Given the description of an element on the screen output the (x, y) to click on. 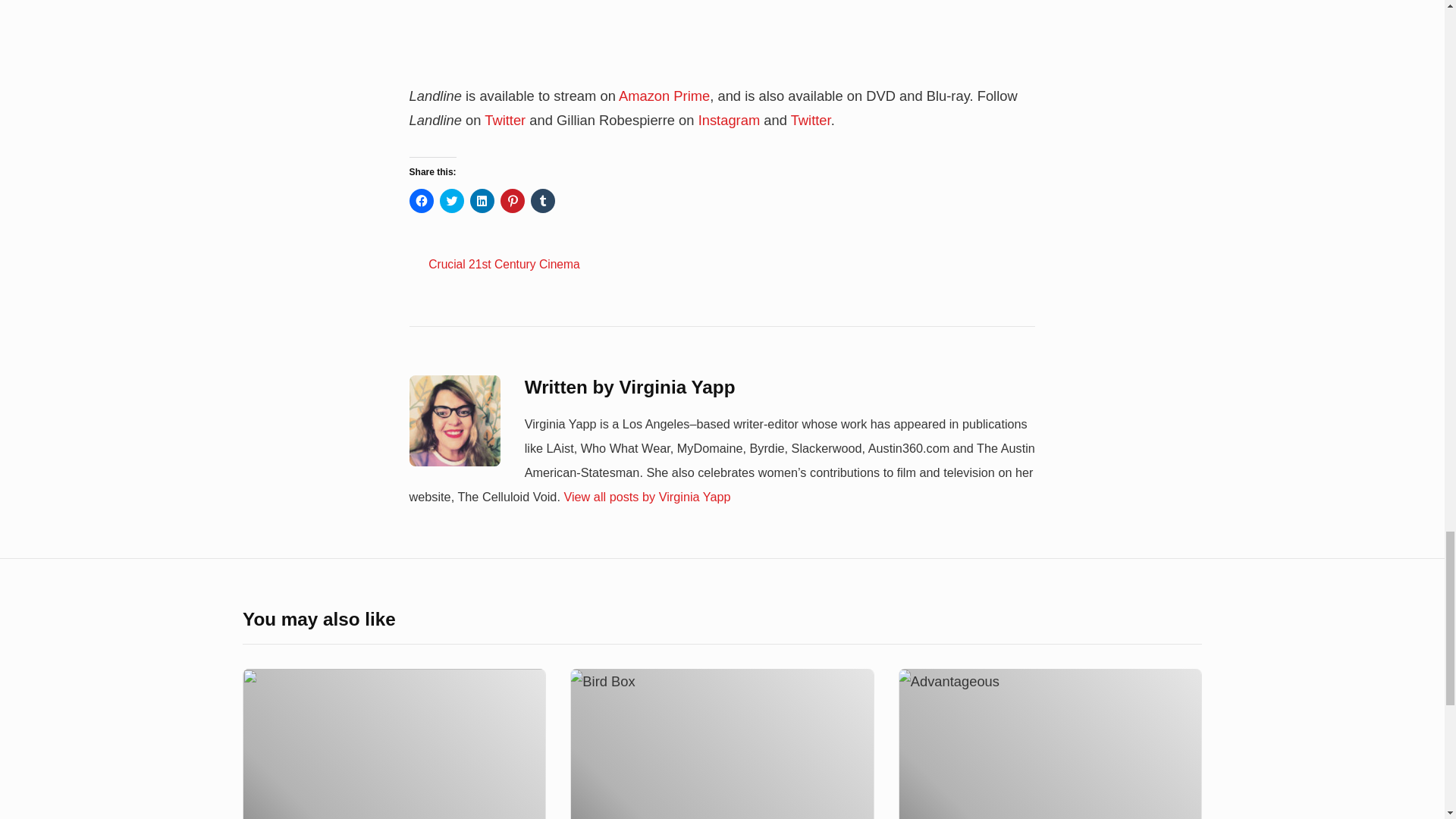
Twitter (810, 119)
Twitter (504, 119)
Instagram (729, 119)
Click to share on LinkedIn (482, 200)
Crucial 21st Century Cinema (503, 264)
Click to share on Tumblr (542, 200)
Click to share on Facebook (421, 200)
Click to share on Twitter (451, 200)
View all posts by Virginia Yapp (646, 496)
Click to share on Pinterest (512, 200)
